Given the description of an element on the screen output the (x, y) to click on. 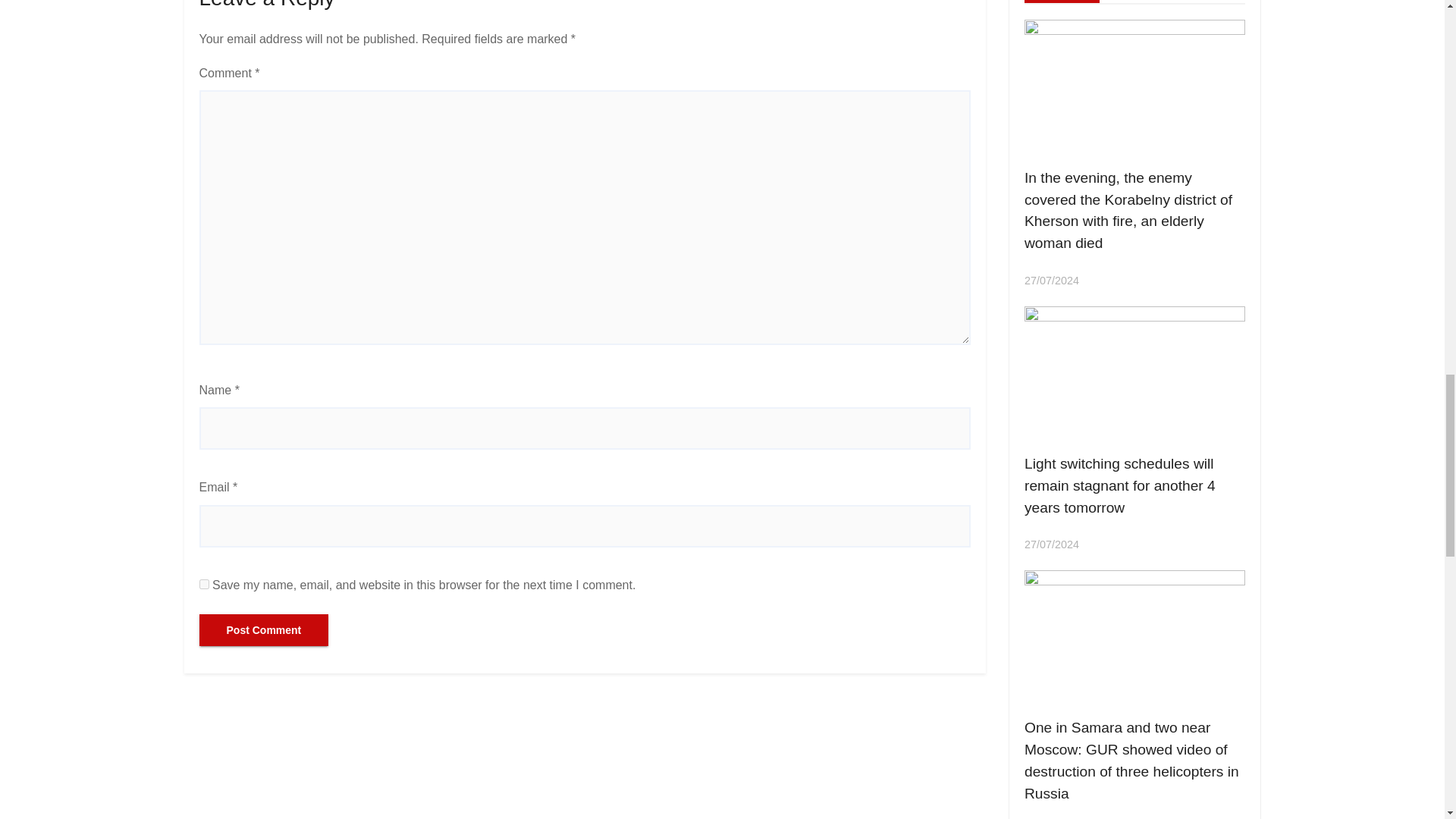
yes (203, 583)
Post Comment (263, 630)
